Given the description of an element on the screen output the (x, y) to click on. 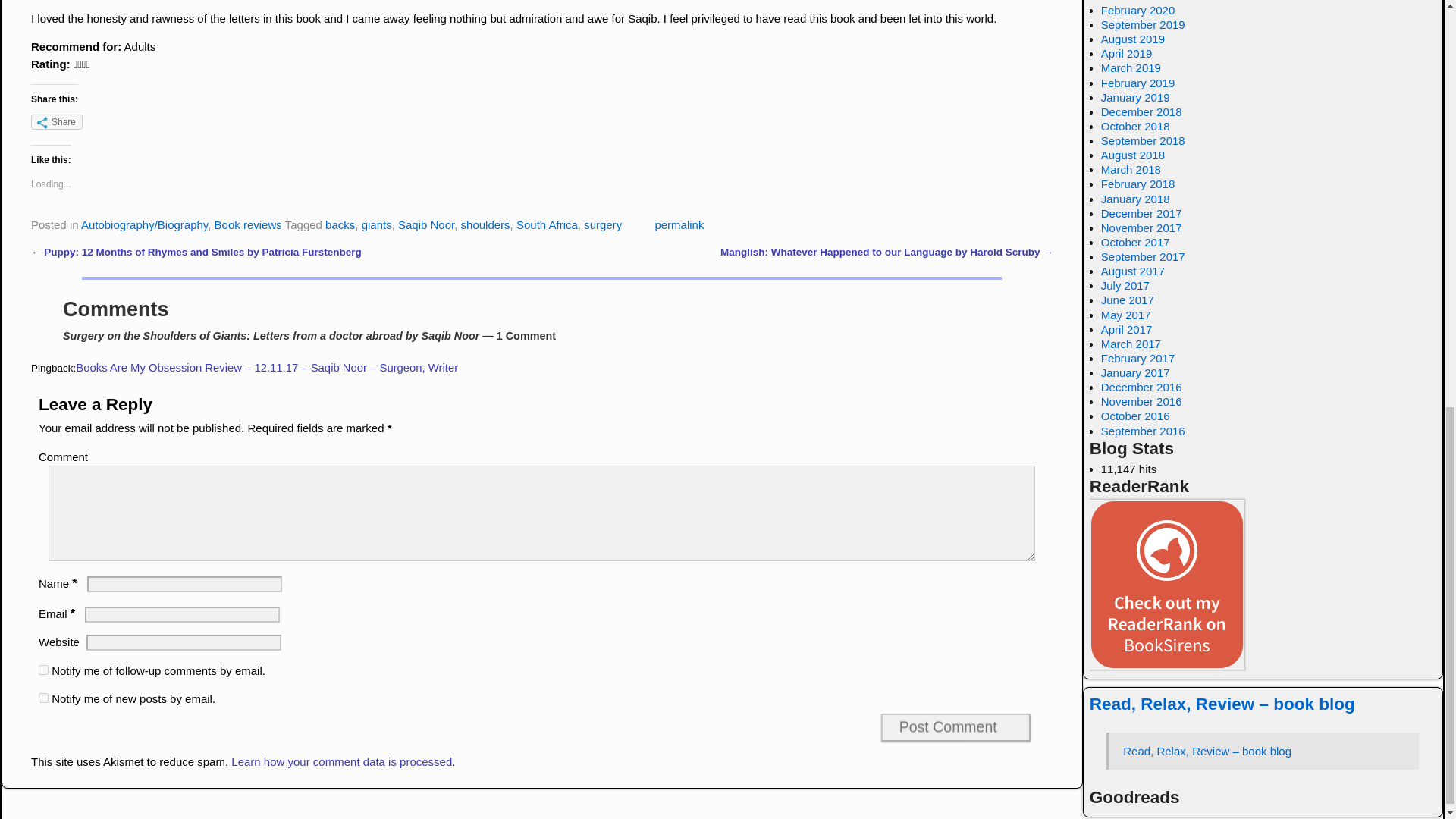
subscribe (43, 669)
backs (339, 224)
Share (56, 121)
subscribe (43, 697)
Post Comment (955, 727)
South Africa (547, 224)
Book reviews (248, 224)
Learn how your comment data is processed (341, 761)
Post Comment (955, 727)
surgery (602, 224)
Saqib Noor (425, 224)
shoulders (486, 224)
permalink (678, 224)
giants (376, 224)
